Given the description of an element on the screen output the (x, y) to click on. 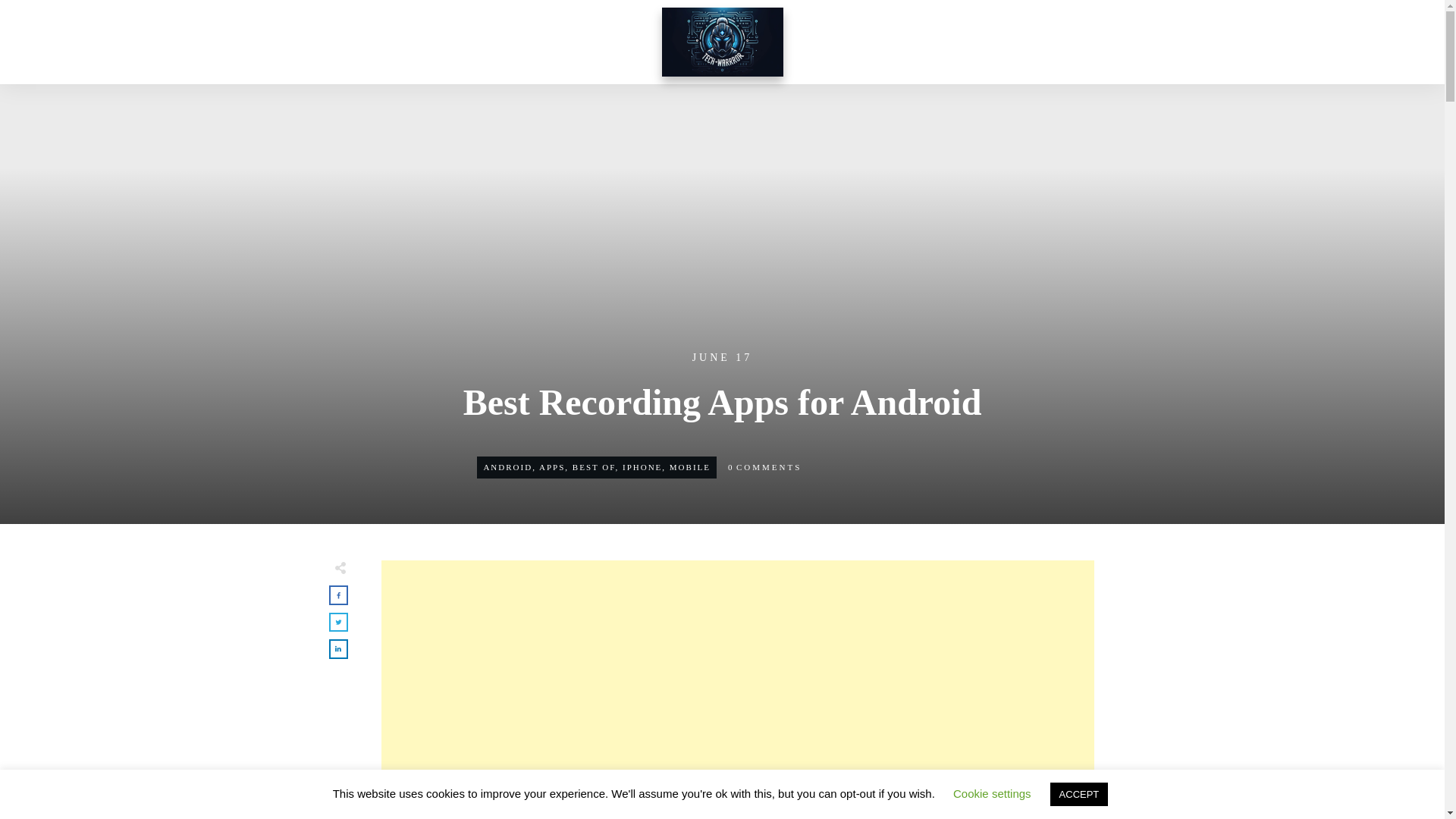
Android (507, 466)
ANDROID (507, 466)
iPhone (642, 466)
ACCEPT (1078, 793)
Best Of (593, 466)
Cookie settings (991, 793)
APPS (551, 466)
MOBILE (689, 466)
Apps (551, 466)
IPHONE (642, 466)
BEST OF (593, 466)
Mobile (689, 466)
